Given the description of an element on the screen output the (x, y) to click on. 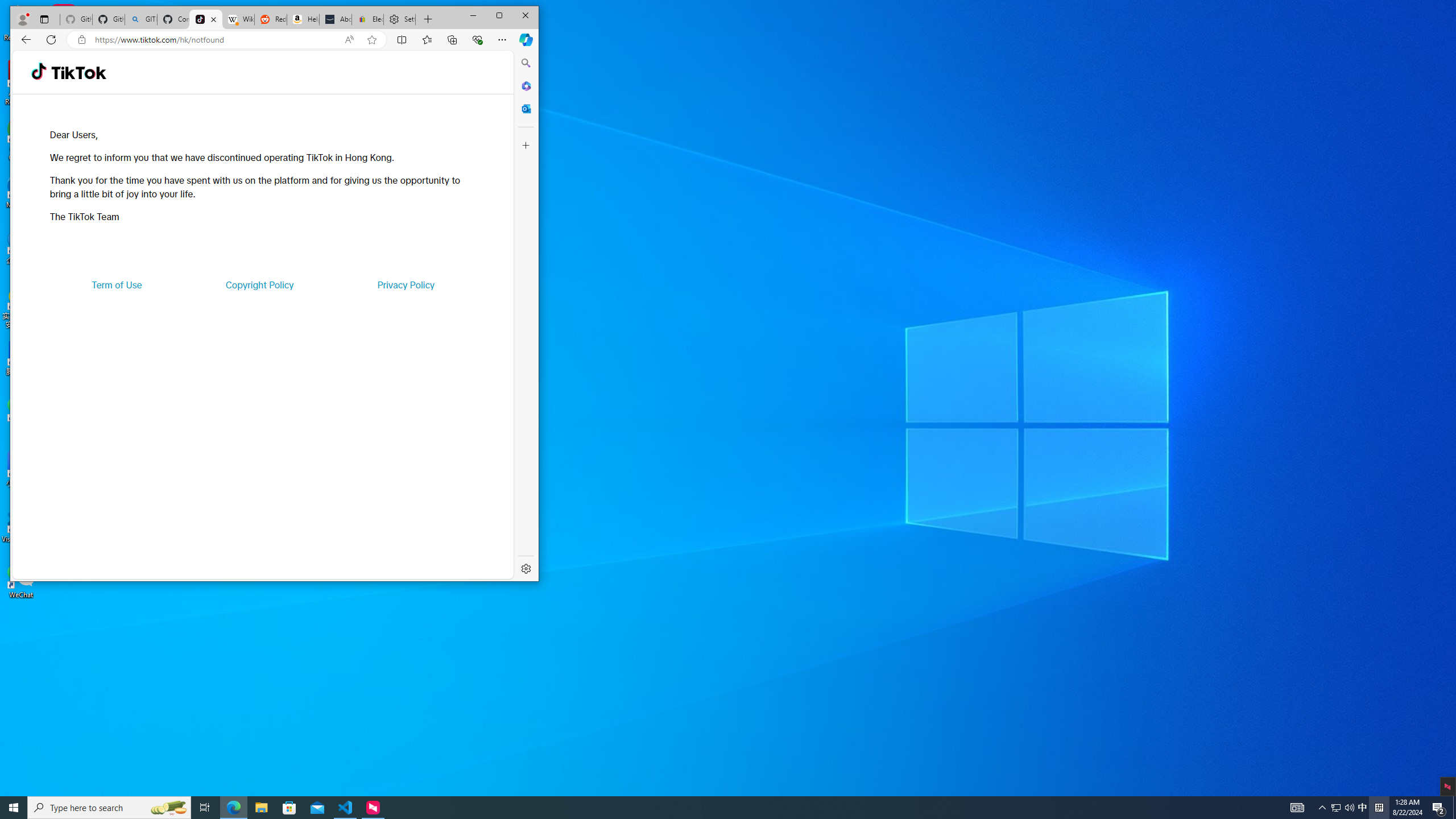
TikTok (205, 19)
